Given the description of an element on the screen output the (x, y) to click on. 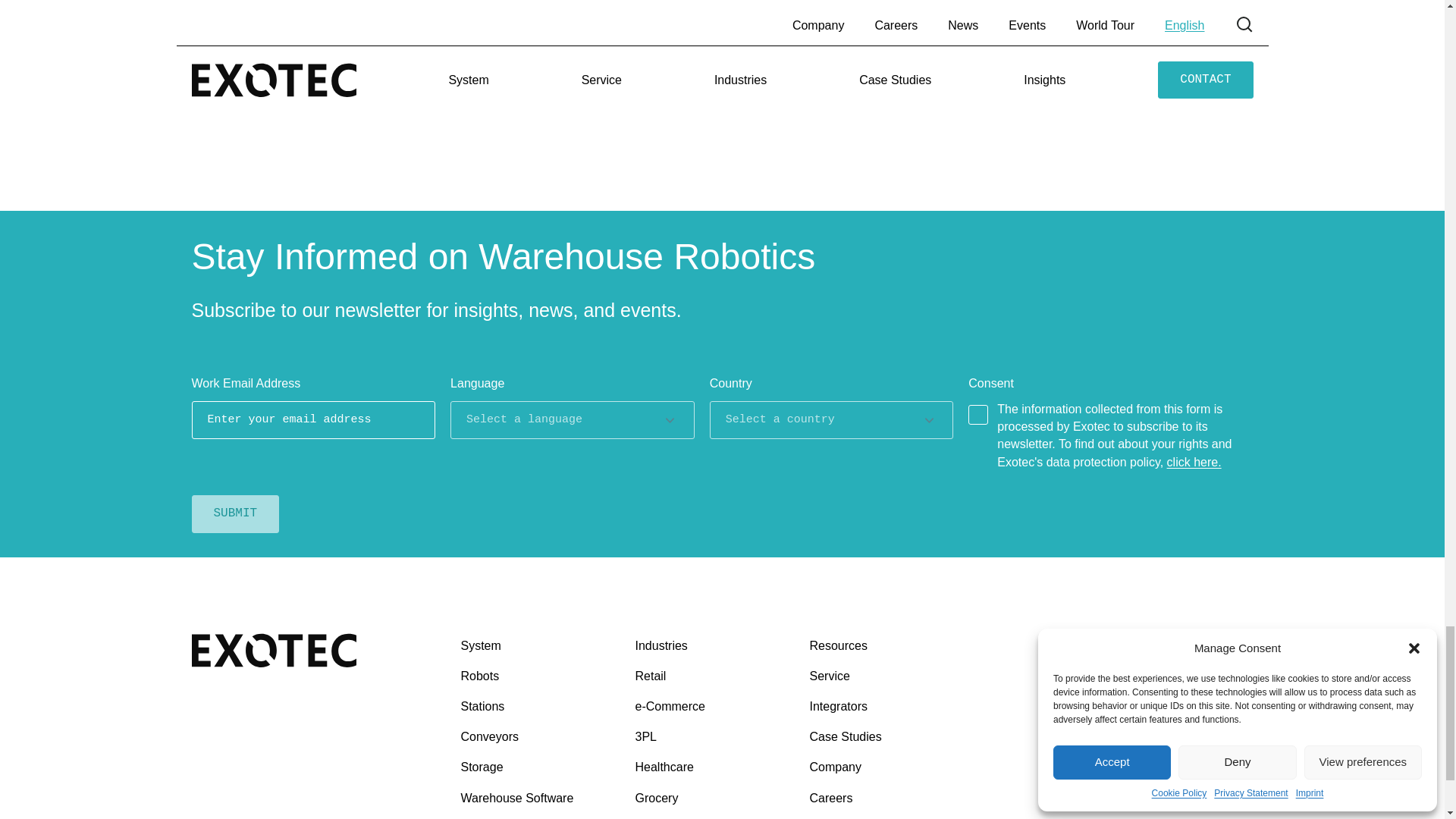
Submit (234, 514)
1 (978, 414)
